Given the description of an element on the screen output the (x, y) to click on. 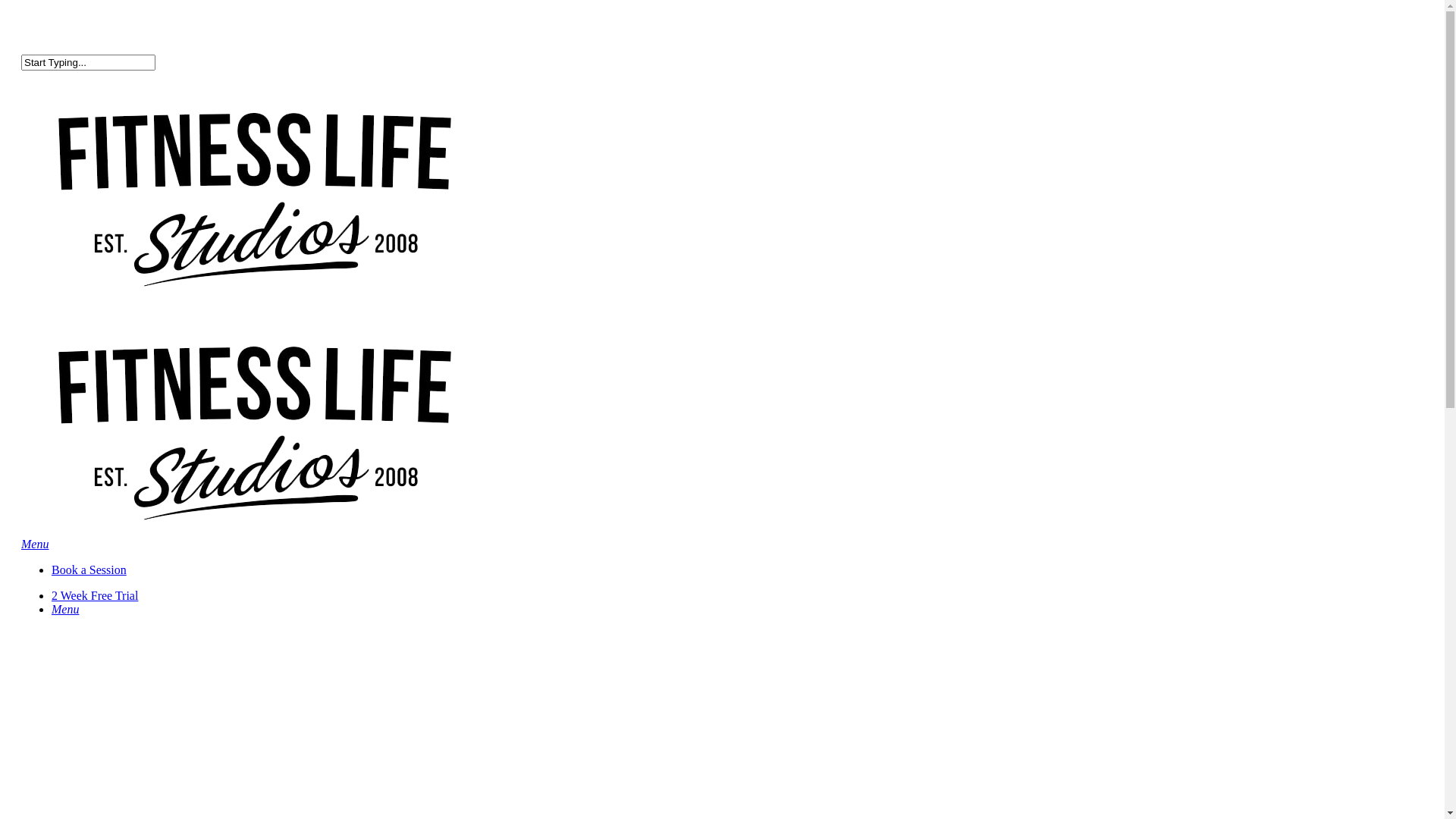
Book a Session Element type: text (88, 569)
Skip to main content Element type: text (5, 5)
Menu Element type: text (64, 608)
2 Week Free Trial Element type: text (94, 595)
Menu Element type: text (34, 543)
